Given the description of an element on the screen output the (x, y) to click on. 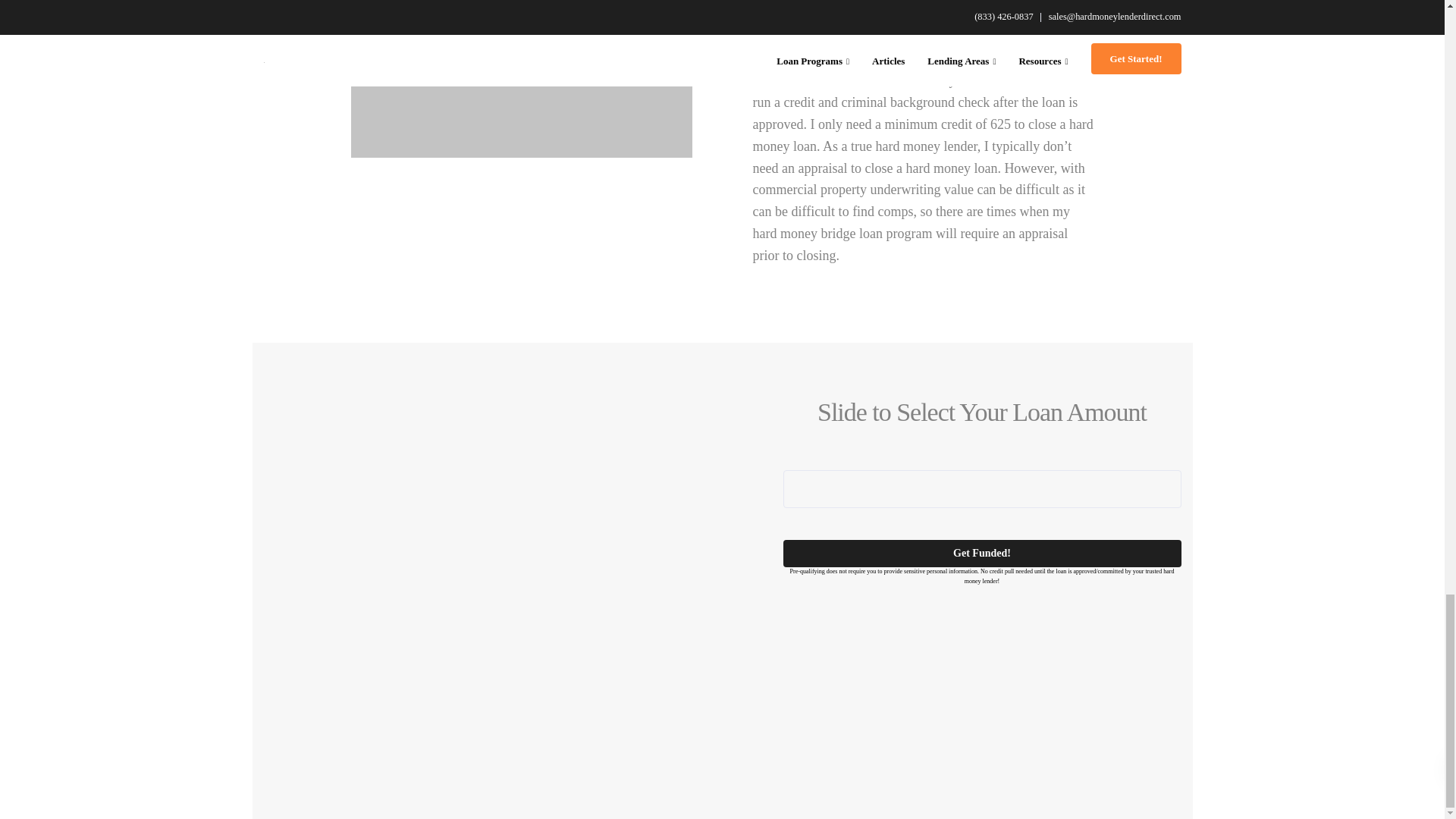
Get Funded! (981, 553)
